Given the description of an element on the screen output the (x, y) to click on. 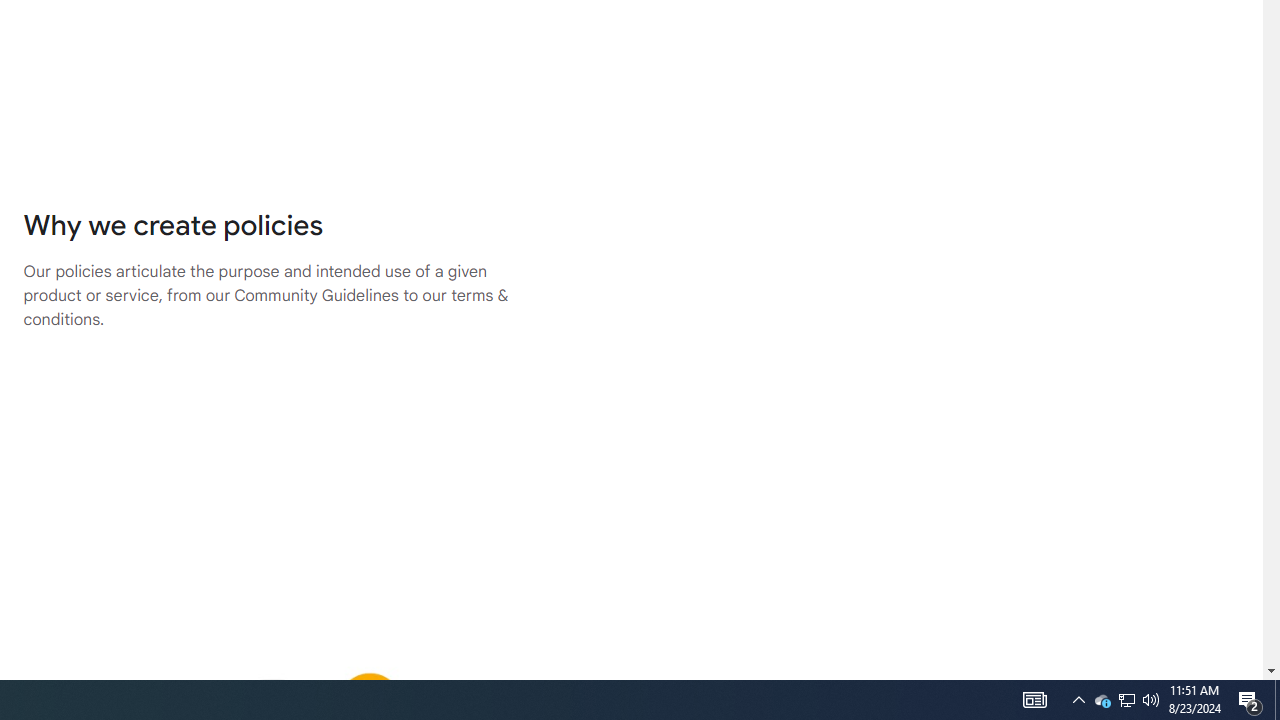
Action Center, 2 new notifications (1126, 699)
Notification Chevron (1250, 699)
Q2790: 100% (1078, 699)
User Promoted Notification Area (1151, 699)
AutomationID: 4105 (1126, 699)
Show desktop (1102, 699)
